Given the description of an element on the screen output the (x, y) to click on. 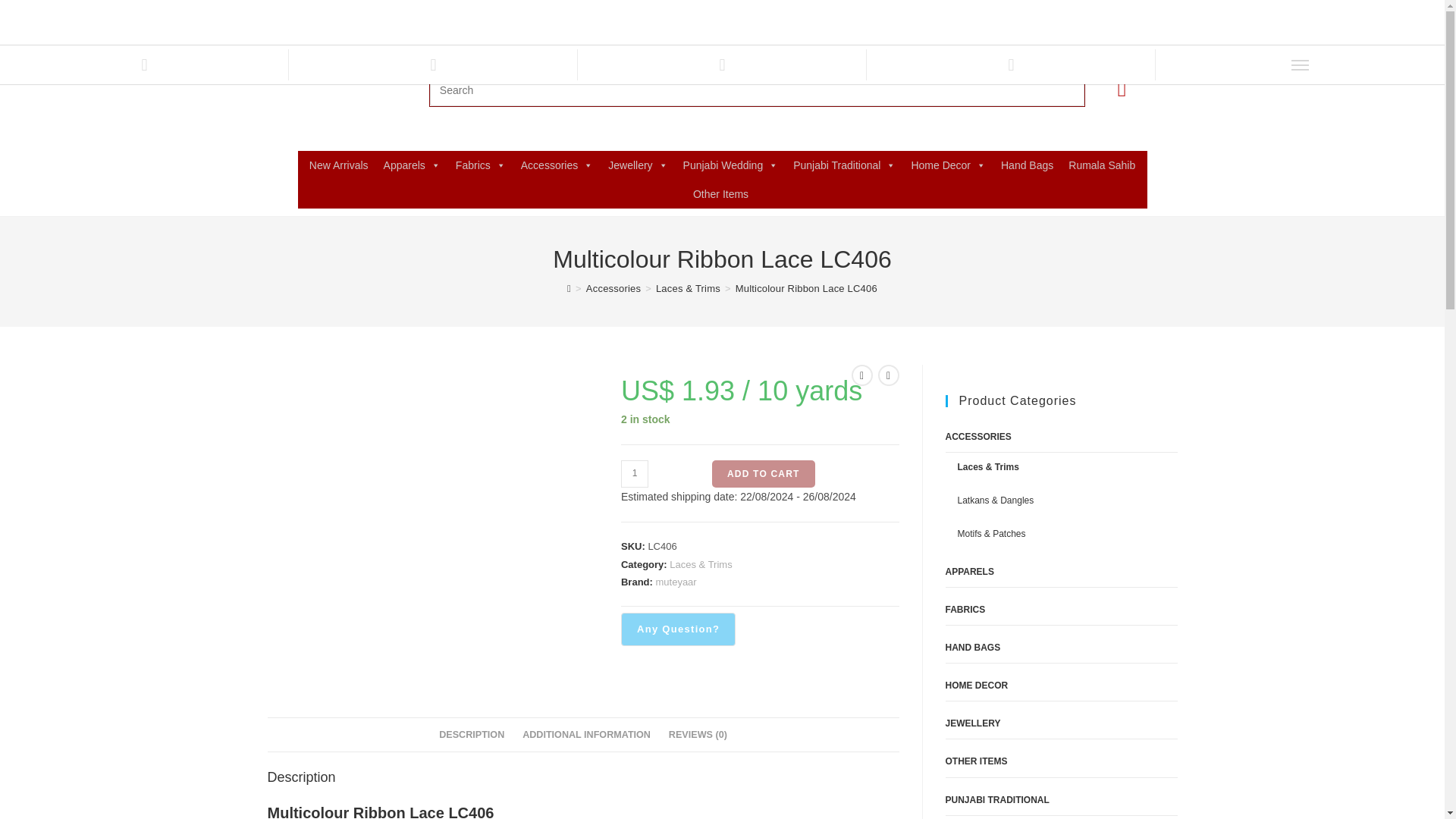
Accessories (556, 164)
New Arrivals (338, 164)
Apparels (411, 164)
Fabrics (480, 164)
1 (634, 473)
Any Question? (678, 629)
